Given the description of an element on the screen output the (x, y) to click on. 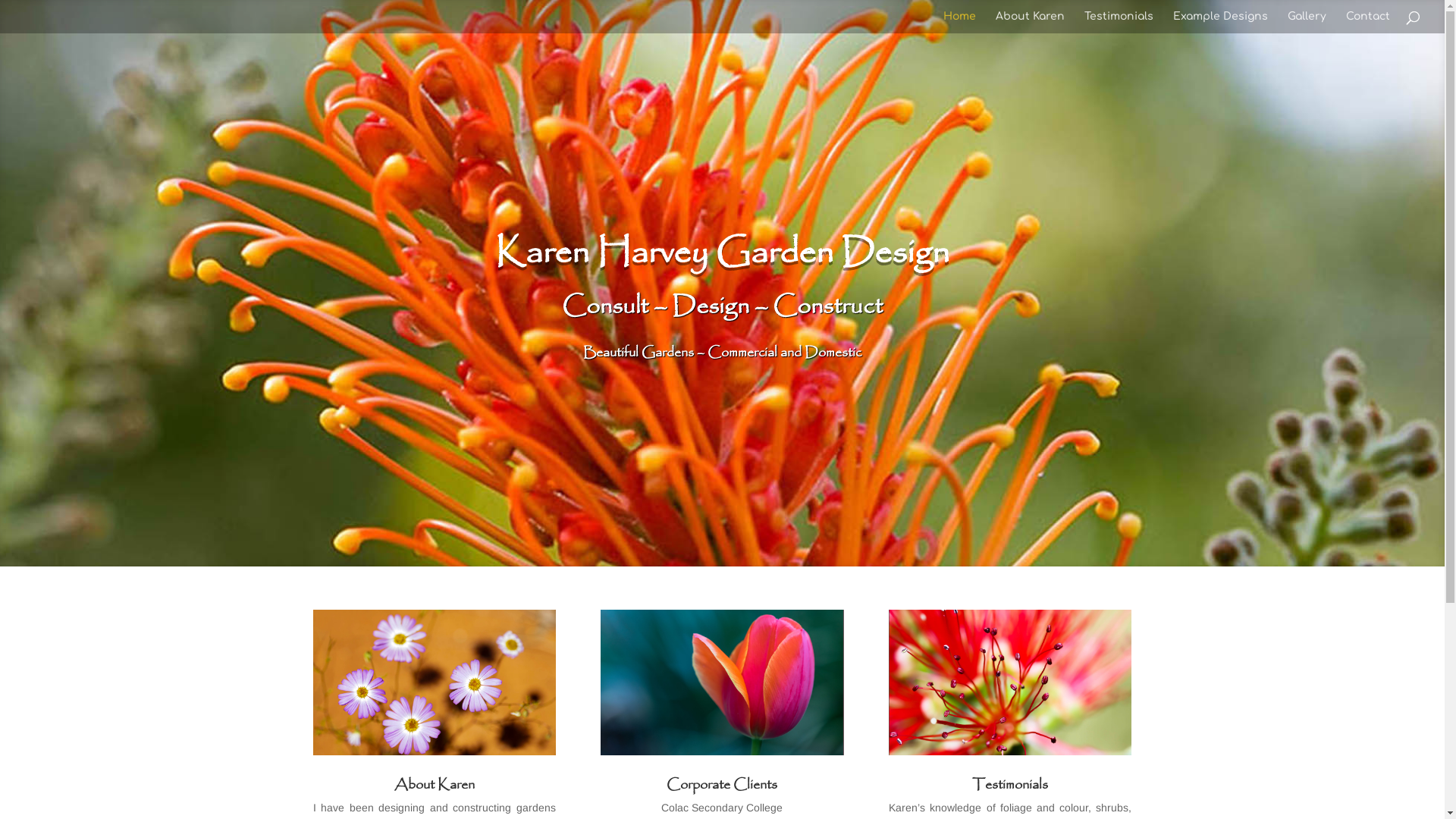
Contact Element type: text (1368, 22)
Example Designs Element type: text (1220, 22)
Karen Harvey Garden Design Element type: text (722, 252)
About Karen Element type: text (1029, 22)
Testimonials Element type: text (1118, 22)
Gallery Element type: text (1306, 22)
Home Element type: text (959, 22)
